Given the description of an element on the screen output the (x, y) to click on. 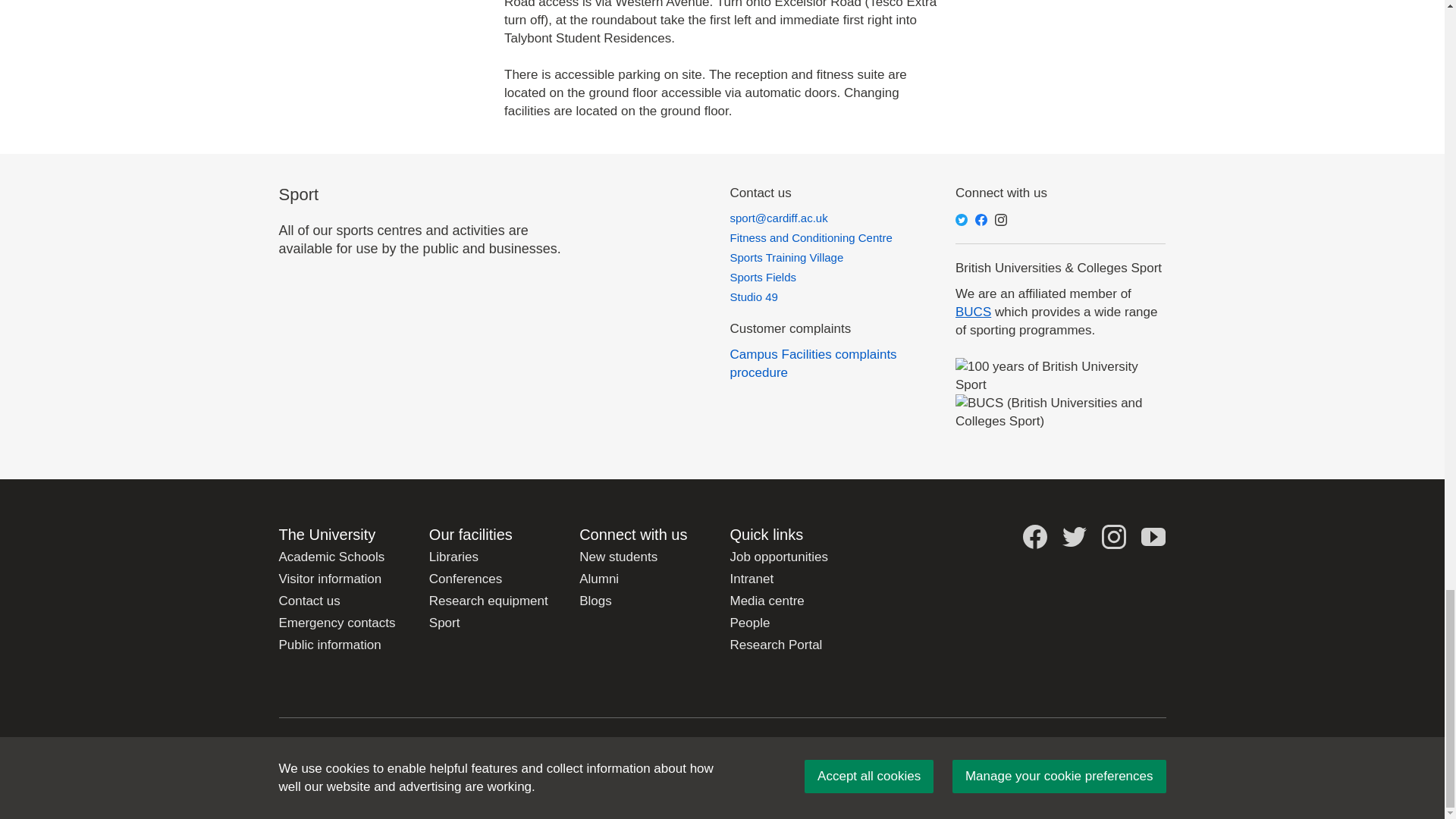
Twitter (961, 219)
facebook (981, 219)
twitter no background icon (1074, 536)
facebook (1034, 536)
instagram (1000, 219)
